Given the description of an element on the screen output the (x, y) to click on. 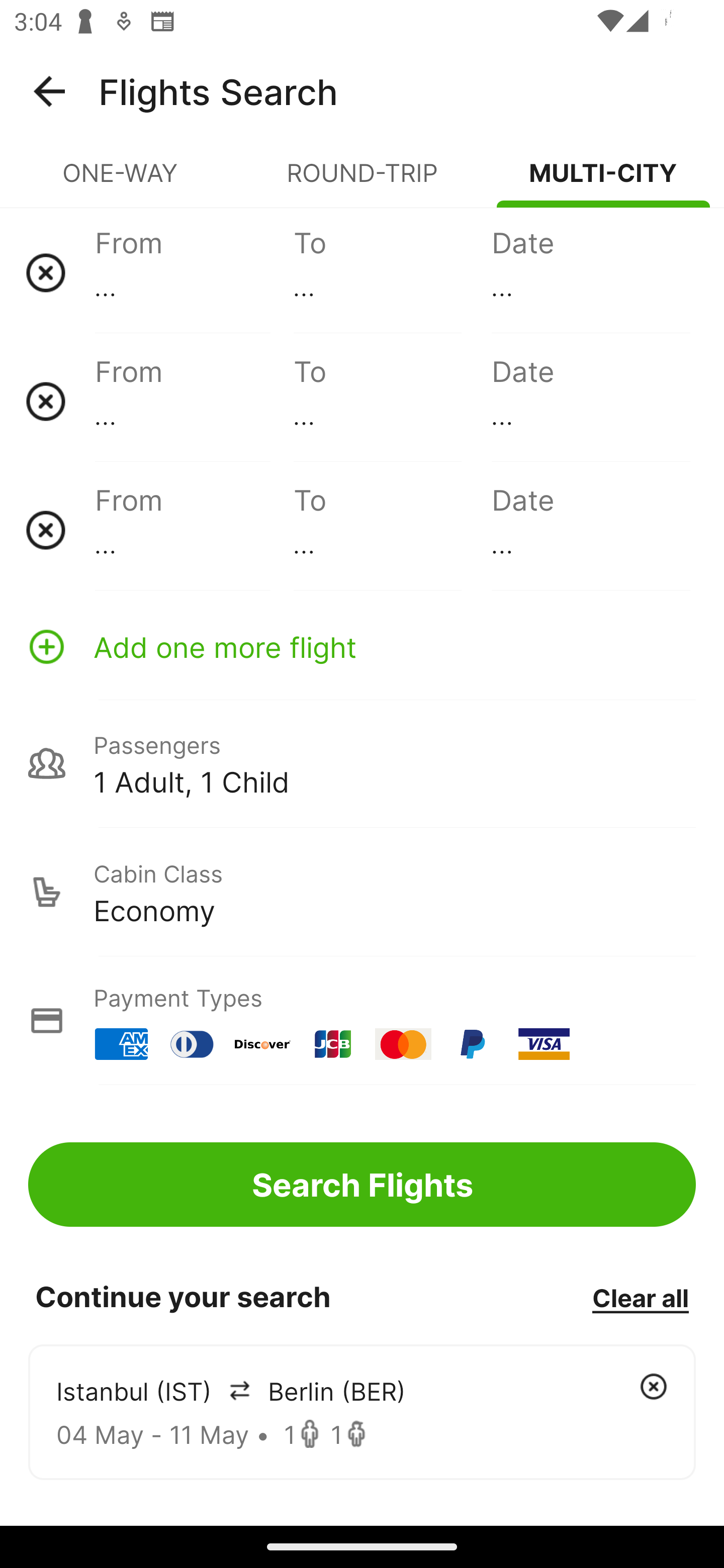
ONE-WAY (120, 180)
ROUND-TRIP (361, 180)
MULTI-CITY (603, 180)
From ⋯ (193, 272)
To ⋯ (392, 272)
Date ⋯ (590, 272)
From ⋯ (193, 401)
To ⋯ (392, 401)
Date ⋯ (590, 401)
From ⋯ (193, 529)
To ⋯ (392, 529)
Date ⋯ (590, 529)
Add one more flight (362, 646)
Passengers 1 Adult, 1 Child (362, 762)
Cabin Class Economy (362, 891)
Payment Types (362, 1020)
Search Flights (361, 1184)
Clear all (640, 1297)
